Given the description of an element on the screen output the (x, y) to click on. 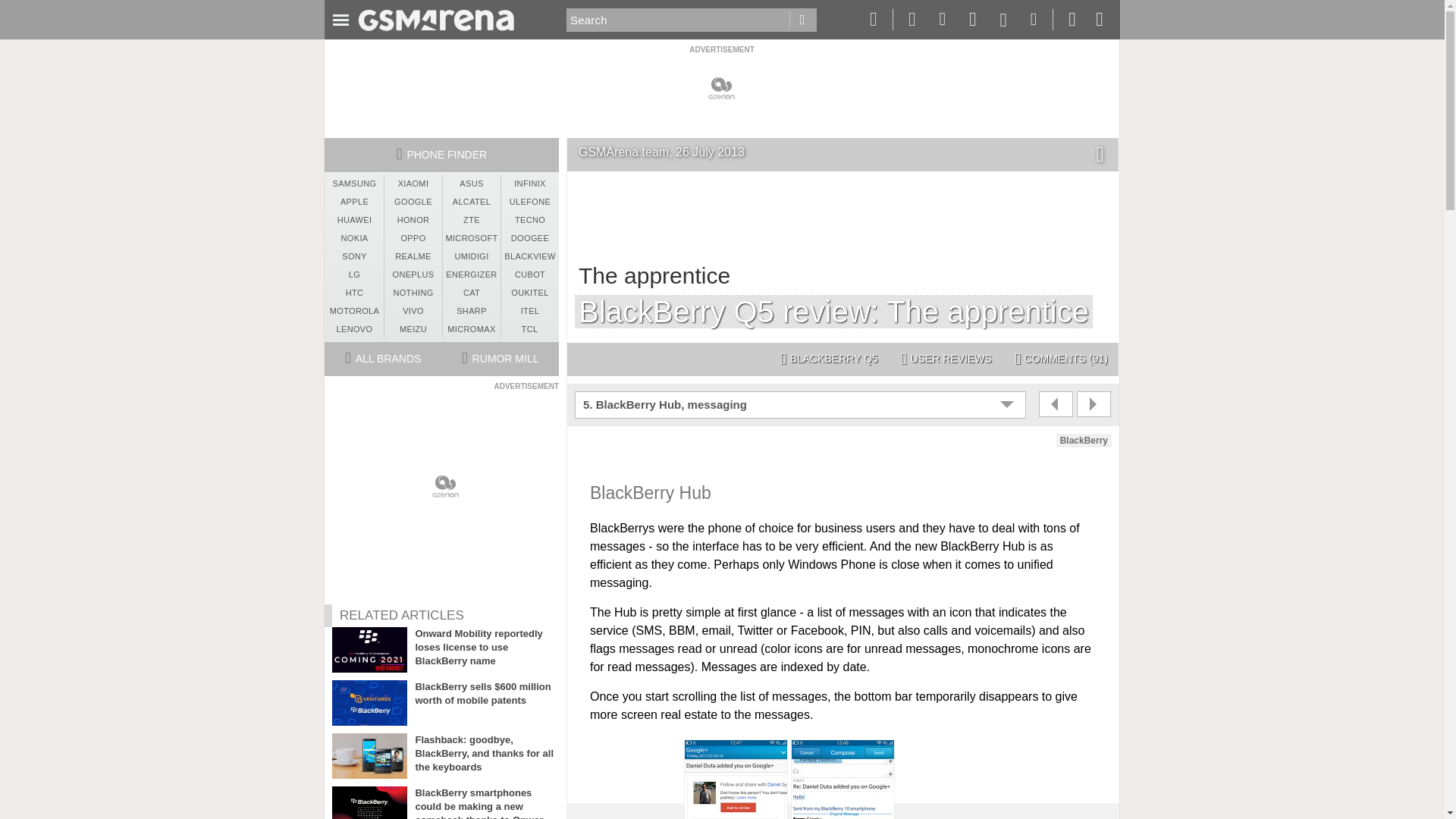
5. BlackBerry Hub, messaging (802, 404)
5. BlackBerry Hub, messaging (802, 404)
Previous page (1056, 403)
BLACKBERRY Q5 (828, 359)
Go (802, 19)
Go (802, 19)
USER REVIEWS (946, 359)
Next page (1093, 403)
